Given the description of an element on the screen output the (x, y) to click on. 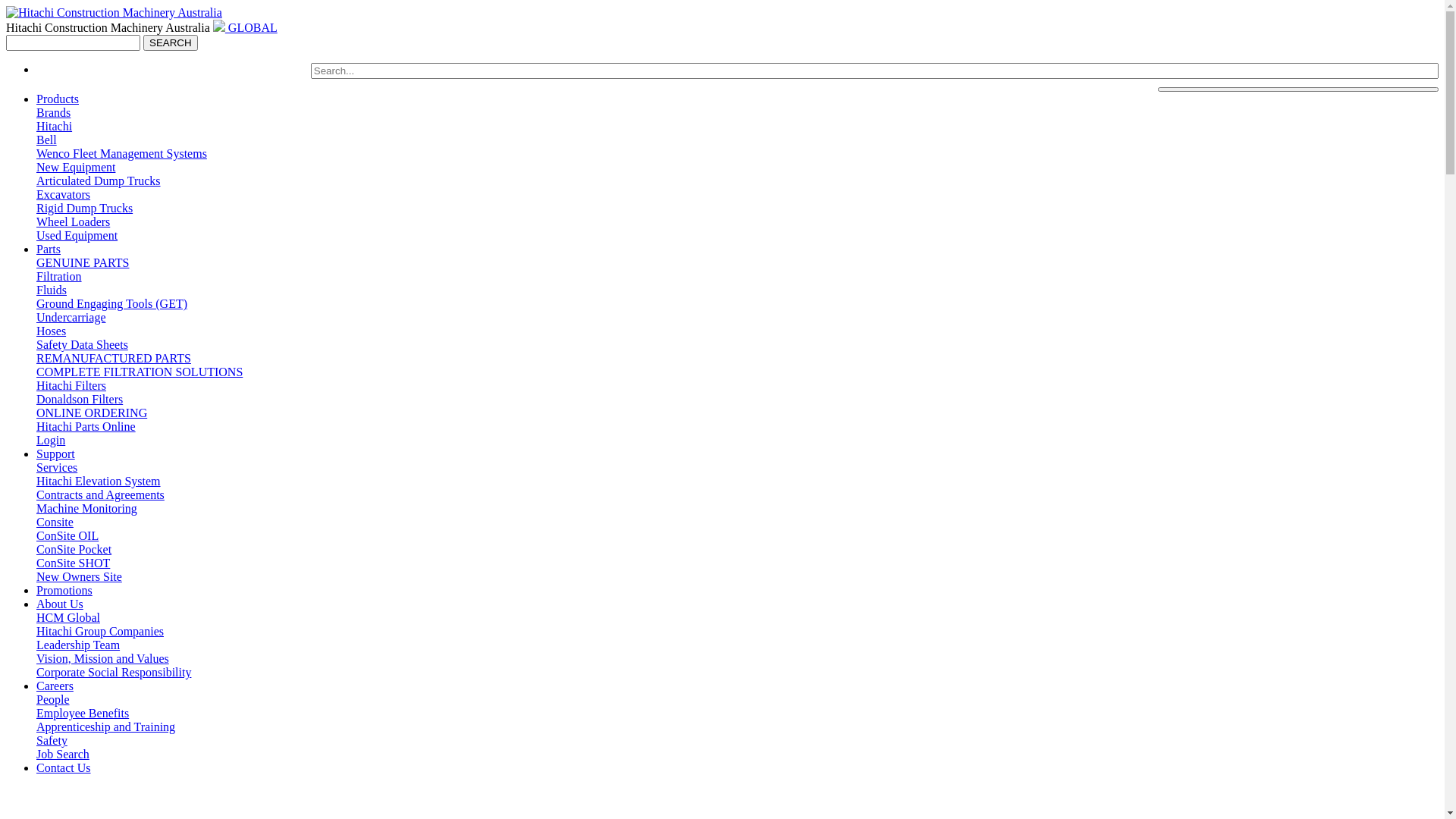
Hitachi Element type: text (54, 125)
Hoses Element type: text (50, 330)
Safety Data Sheets Element type: text (82, 344)
Hitachi Group Companies Element type: text (99, 630)
Ground Engaging Tools (GET) Element type: text (111, 303)
HCM Global Element type: text (68, 617)
Machine Monitoring Element type: text (86, 508)
Wenco Fleet Management Systems Element type: text (121, 153)
Bell Element type: text (46, 139)
Apprenticeship and Training Element type: text (105, 726)
Filtration Element type: text (58, 275)
Fluids Element type: text (51, 289)
ConSite OIL Element type: text (67, 535)
Products Element type: text (57, 98)
 GLOBAL Element type: text (245, 27)
GENUINE PARTS Element type: text (82, 262)
Job Search Element type: text (62, 753)
Excavators Element type: text (63, 194)
Vision, Mission and Values Element type: text (102, 658)
Support Element type: text (55, 453)
Undercarriage Element type: text (71, 316)
Safety Element type: text (51, 740)
Contact Us Element type: text (63, 767)
Hitachi Filters Element type: text (71, 385)
New Owners Site Element type: text (79, 576)
Careers Element type: text (54, 685)
Articulated Dump Trucks Element type: text (98, 180)
Wheel Loaders Element type: text (72, 221)
Corporate Social Responsibility Element type: text (113, 671)
Promotions Element type: text (64, 589)
Hitachi Parts Online Element type: text (85, 426)
Donaldson Filters Element type: text (79, 398)
Contracts and Agreements Element type: text (100, 494)
SEARCH Element type: text (170, 42)
Consite Element type: text (54, 521)
Hitachi Elevation System Element type: text (98, 480)
Login Element type: text (50, 439)
About Us Element type: text (59, 603)
Services Element type: text (56, 467)
Leadership Team Element type: text (77, 644)
Parts Element type: text (48, 248)
People Element type: text (52, 699)
Rigid Dump Trucks Element type: text (84, 207)
Go to Home Element type: hover (114, 12)
ConSite SHOT Element type: text (72, 562)
Used Equipment Element type: text (76, 235)
ONLINE ORDERING Element type: text (91, 412)
Employee Benefits Element type: text (82, 712)
New Equipment Element type: text (75, 166)
ConSite Pocket Element type: text (73, 548)
REMANUFACTURED PARTS Element type: text (113, 357)
COMPLETE FILTRATION SOLUTIONS Element type: text (139, 371)
Brands Element type: text (53, 112)
